Given the description of an element on the screen output the (x, y) to click on. 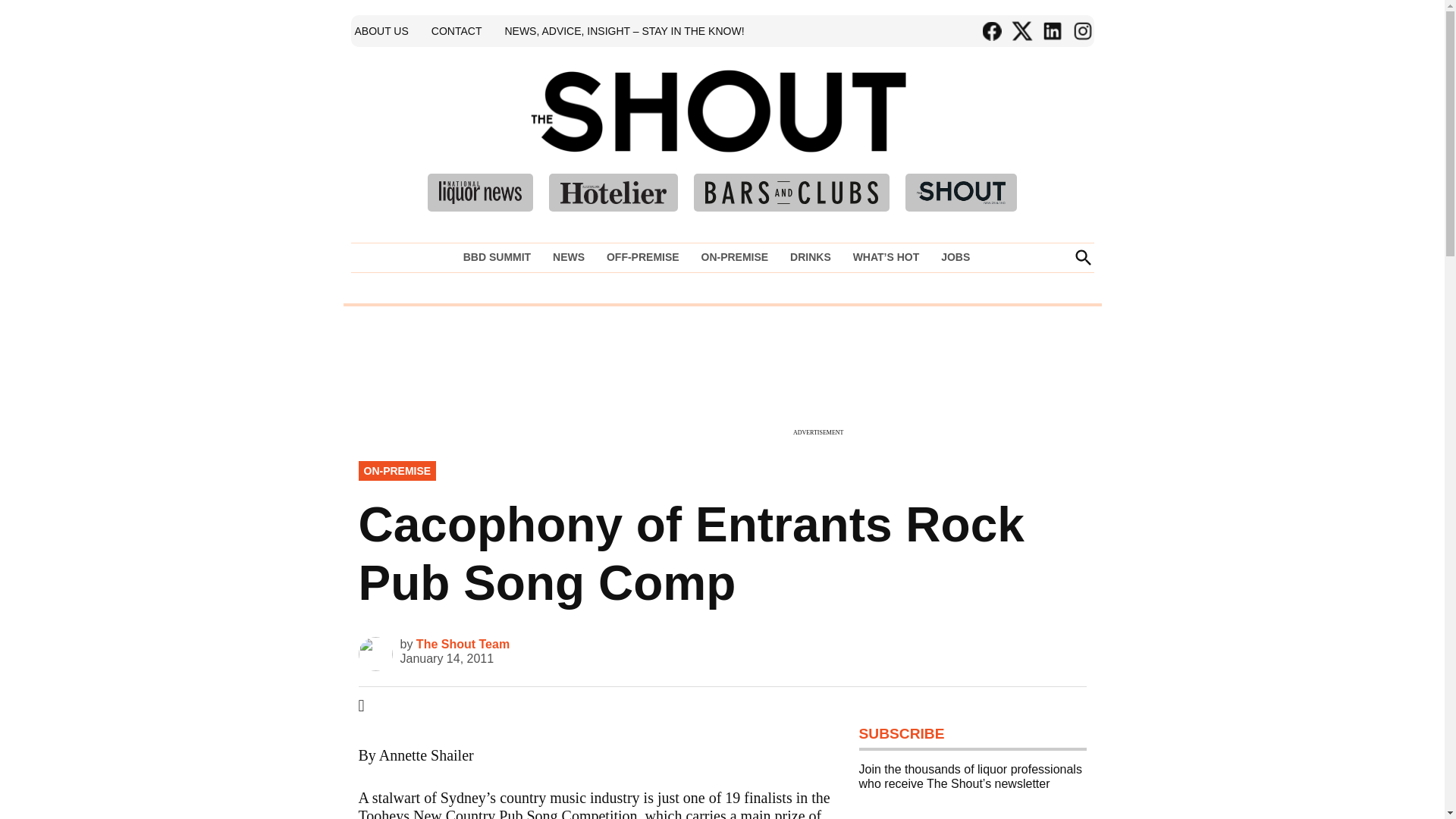
ABOUT US (381, 30)
The Shout (939, 133)
CONTACT (457, 30)
Instagram (1081, 31)
ON-PREMISE (734, 256)
Twitter (1021, 31)
Linkedin (1051, 31)
OFF-PREMISE (642, 256)
Facebook (991, 31)
BBD SUMMIT (500, 256)
